Given the description of an element on the screen output the (x, y) to click on. 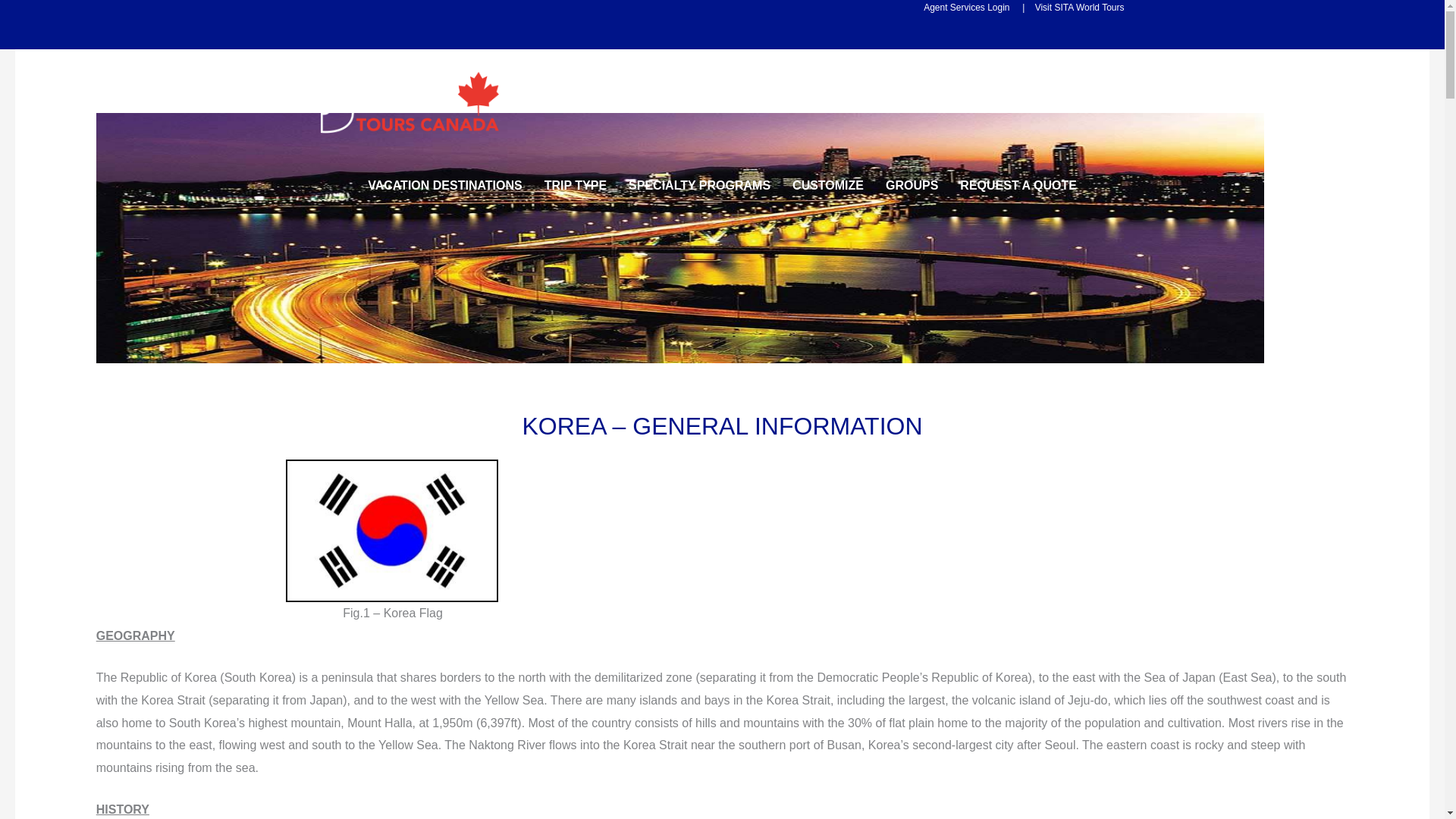
Agent Services Login (966, 7)
TRIP TYPE (575, 185)
  Visit SITA World Tours (1076, 7)
CUSTOMIZE (828, 185)
VACATION DESTINATIONS (444, 185)
REQUEST A QUOTE (1018, 185)
GROUPS (912, 185)
SPECIALTY PROGRAMS (698, 185)
